Given the description of an element on the screen output the (x, y) to click on. 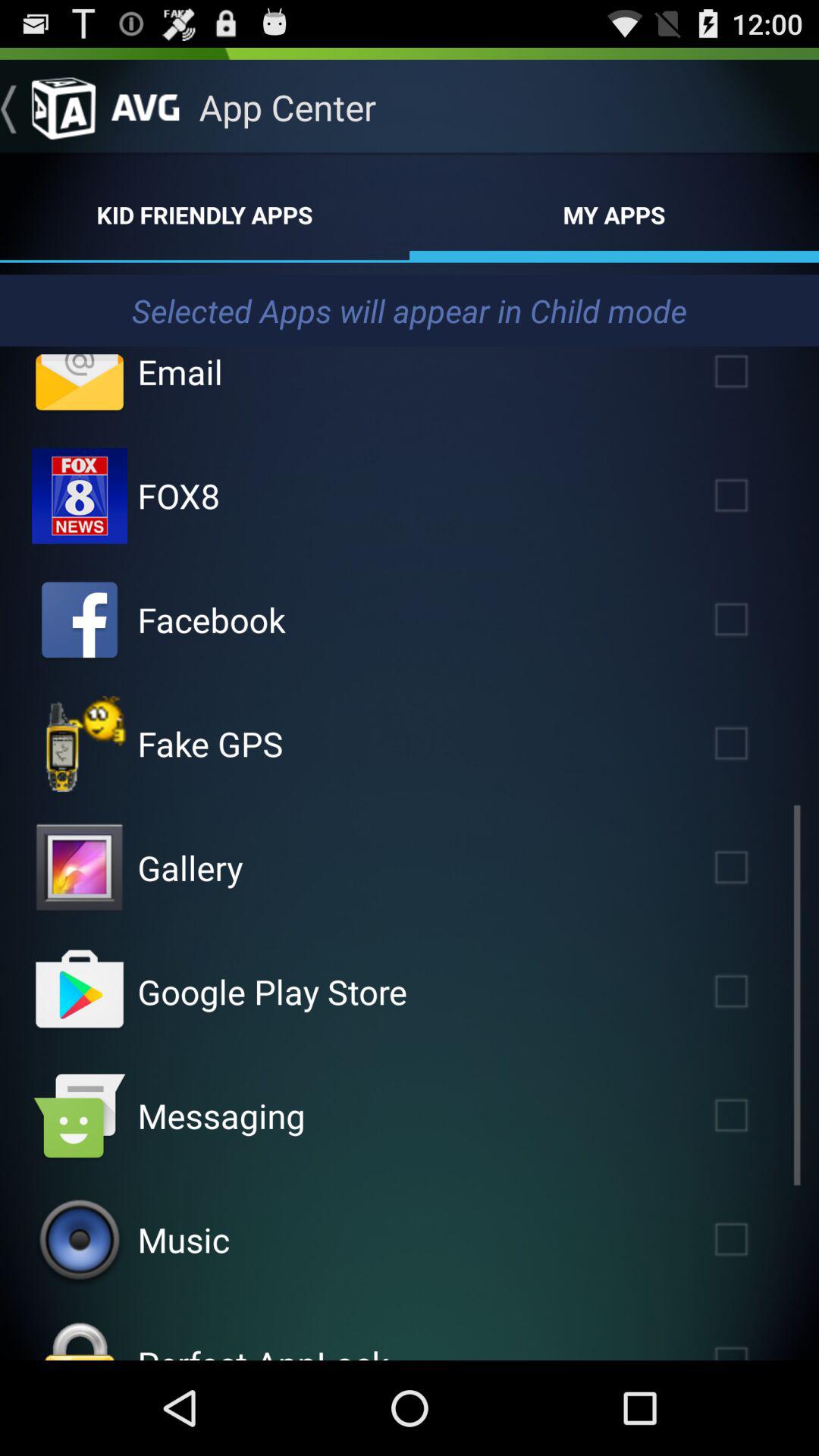
choose app (79, 867)
